Given the description of an element on the screen output the (x, y) to click on. 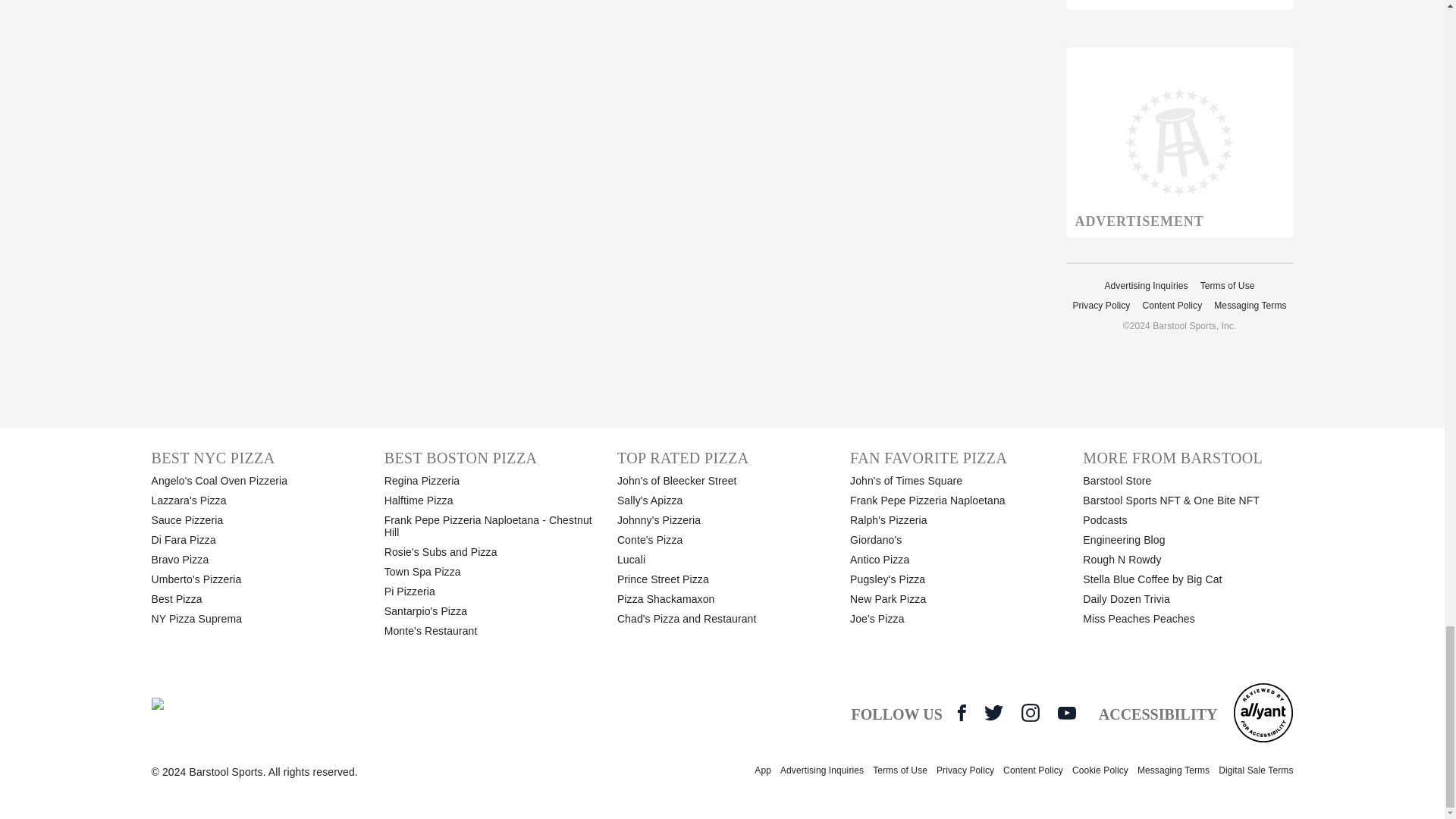
Instagram Icon (1030, 712)
Twitter Icon (993, 712)
YouTube Icon (1066, 712)
Reviewed by Allyant for accessibility (1263, 712)
